Given the description of an element on the screen output the (x, y) to click on. 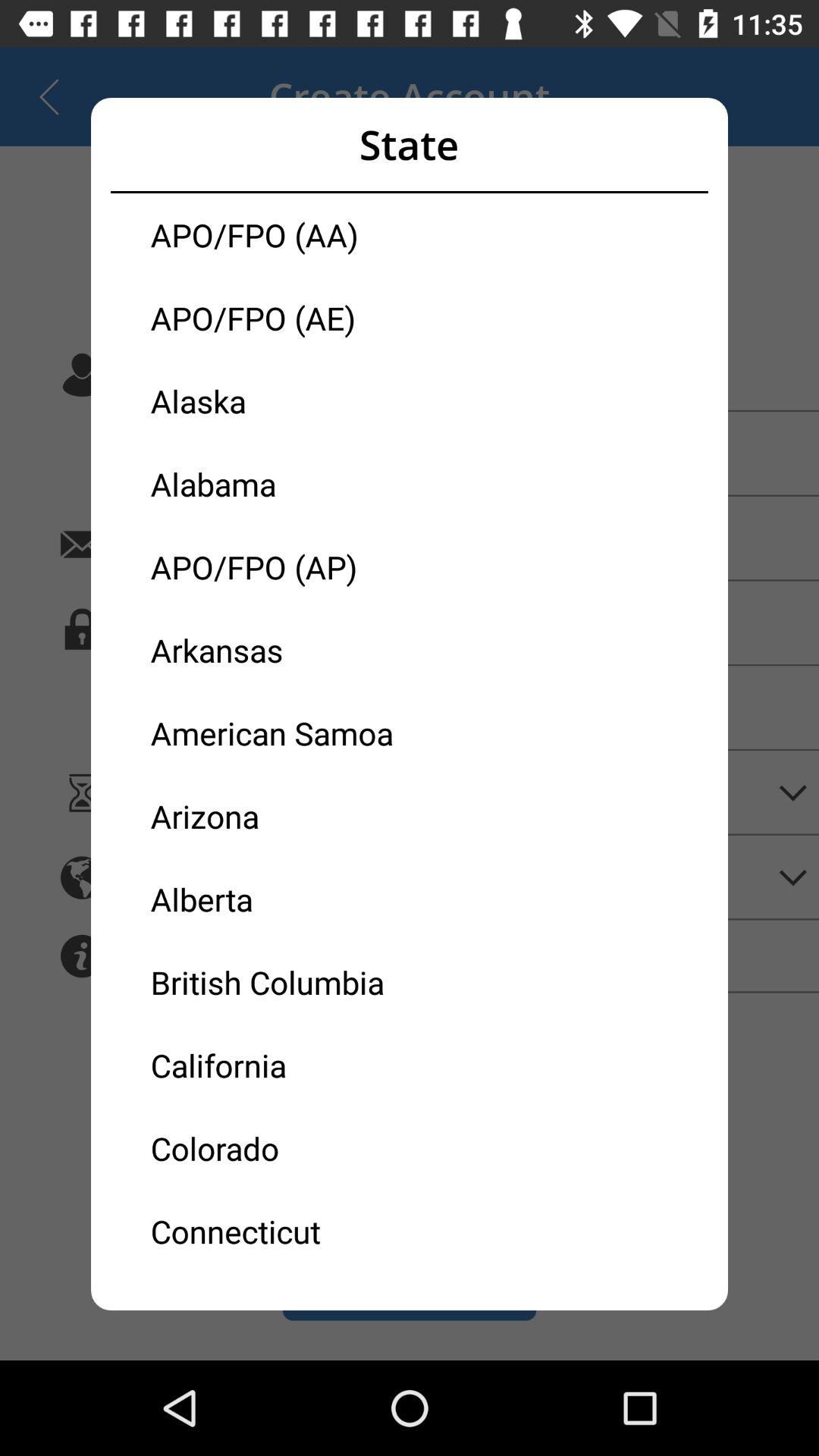
jump until the connecticut (279, 1229)
